Given the description of an element on the screen output the (x, y) to click on. 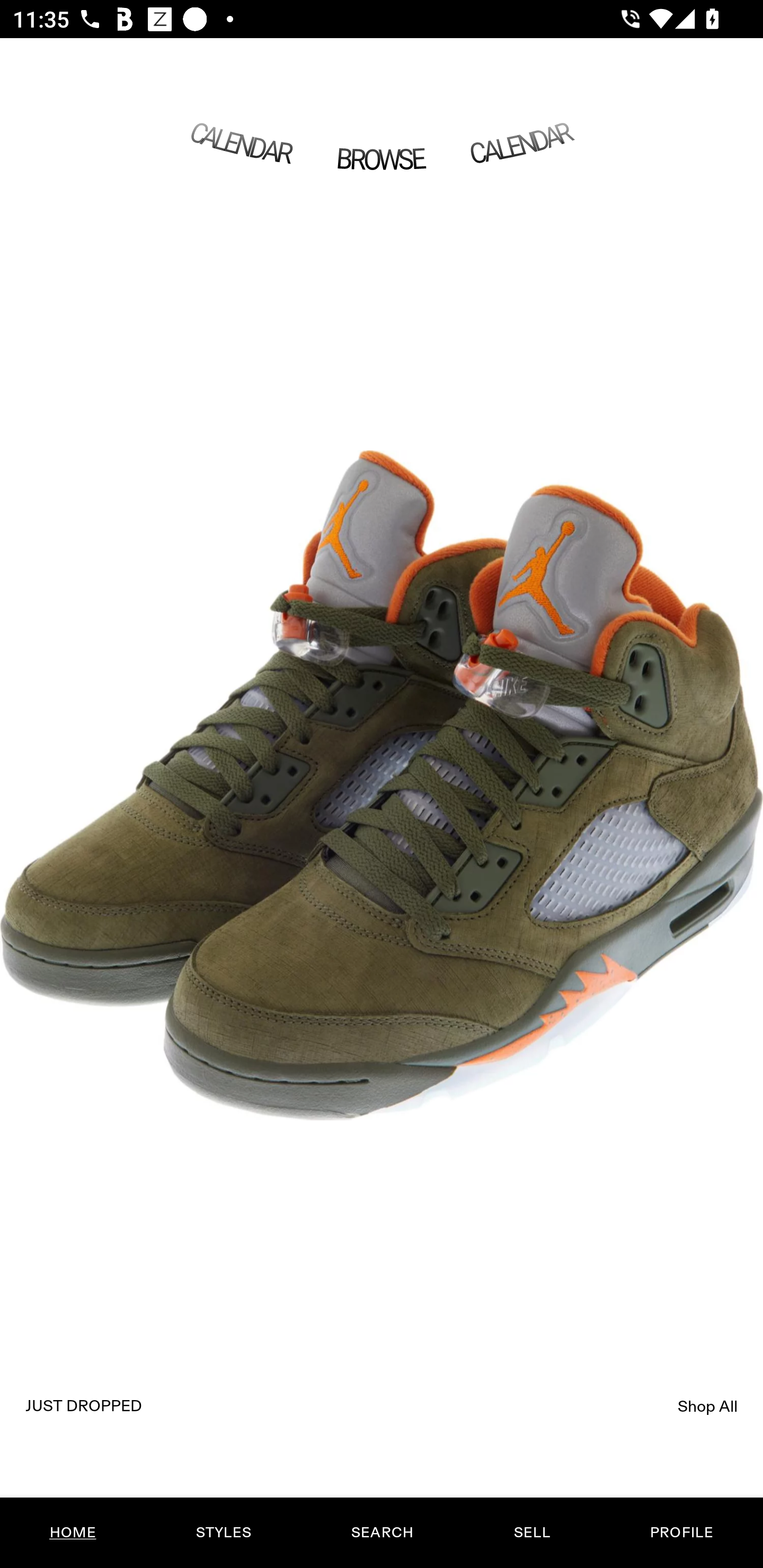
Shop All (707, 1406)
HOME (72, 1532)
STYLES (222, 1532)
SEARCH (381, 1532)
SELL (531, 1532)
PROFILE (681, 1532)
